Given the description of an element on the screen output the (x, y) to click on. 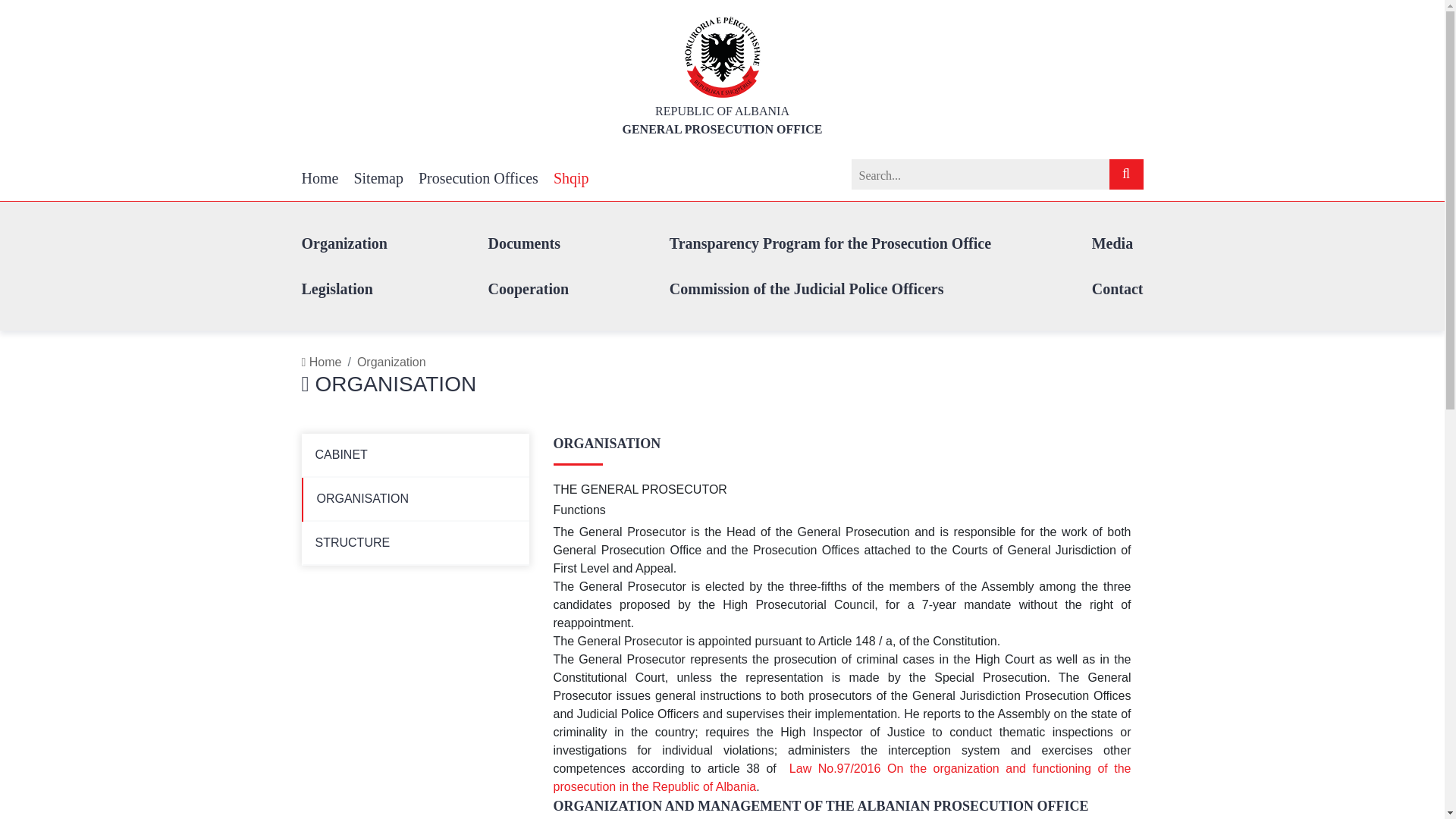
Search (1125, 173)
Legislation (336, 288)
Prosecution Offices (478, 177)
Documents (523, 243)
Republic of Albania - General Prosecution Office (722, 55)
Shqip (571, 177)
General Prosecution Office (721, 119)
Search (1125, 173)
Home (320, 177)
Cooperation (528, 288)
